Given the description of an element on the screen output the (x, y) to click on. 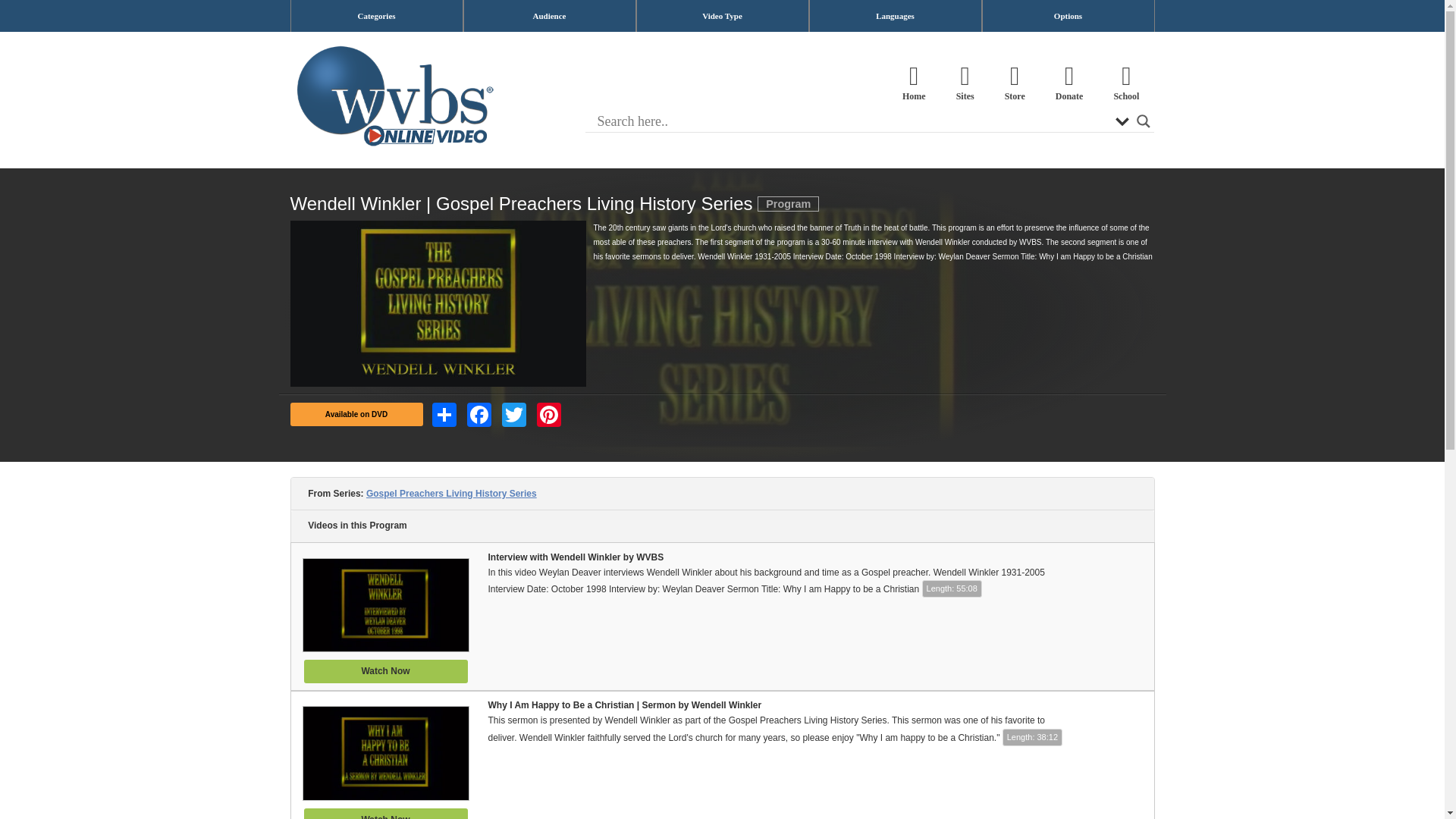
Home page (913, 83)
WVBS Store (1015, 83)
Interview with Wendell Winkler by WVBS (722, 616)
Donate to WVBS (1070, 83)
WVBS Online Bible School (1125, 83)
